Given the description of an element on the screen output the (x, y) to click on. 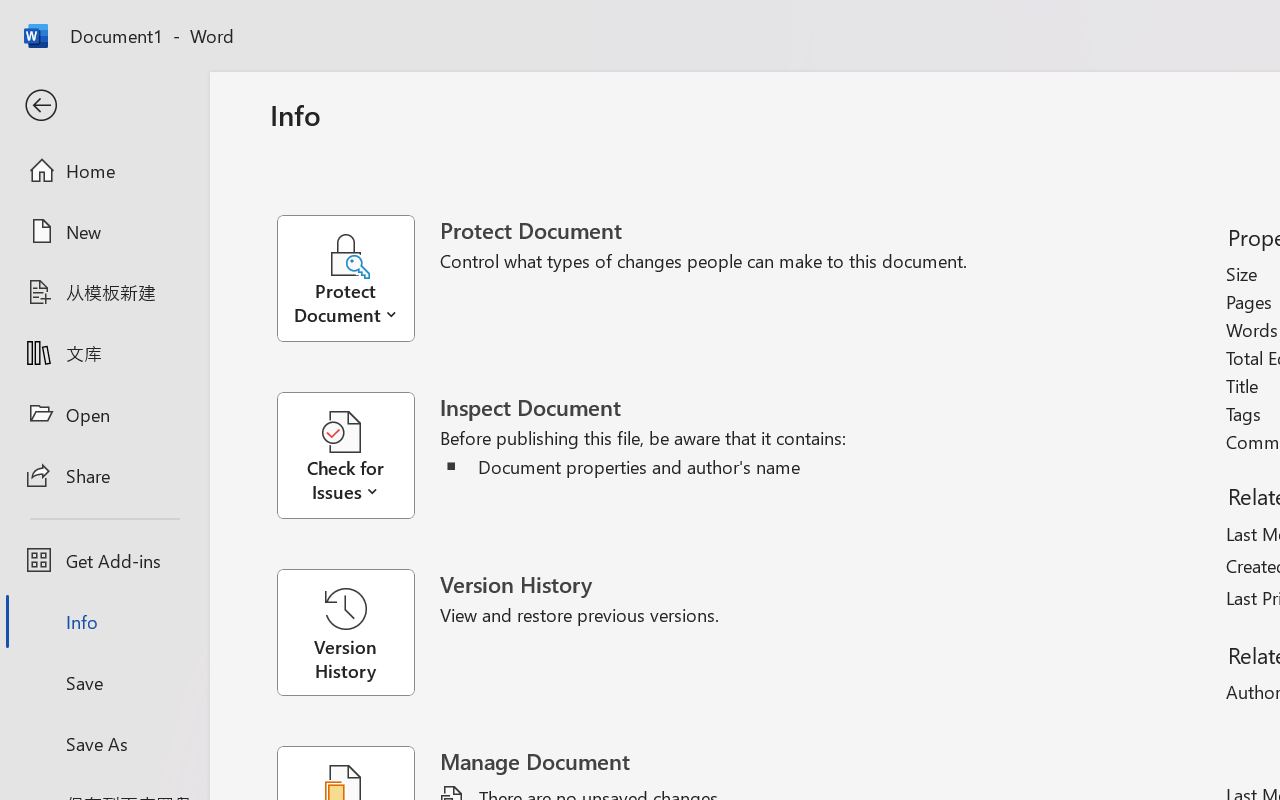
Save As (104, 743)
Back (104, 106)
Get Add-ins (104, 560)
Protect Document (358, 278)
Version History (345, 632)
Info (104, 621)
Check for Issues (358, 455)
